Given the description of an element on the screen output the (x, y) to click on. 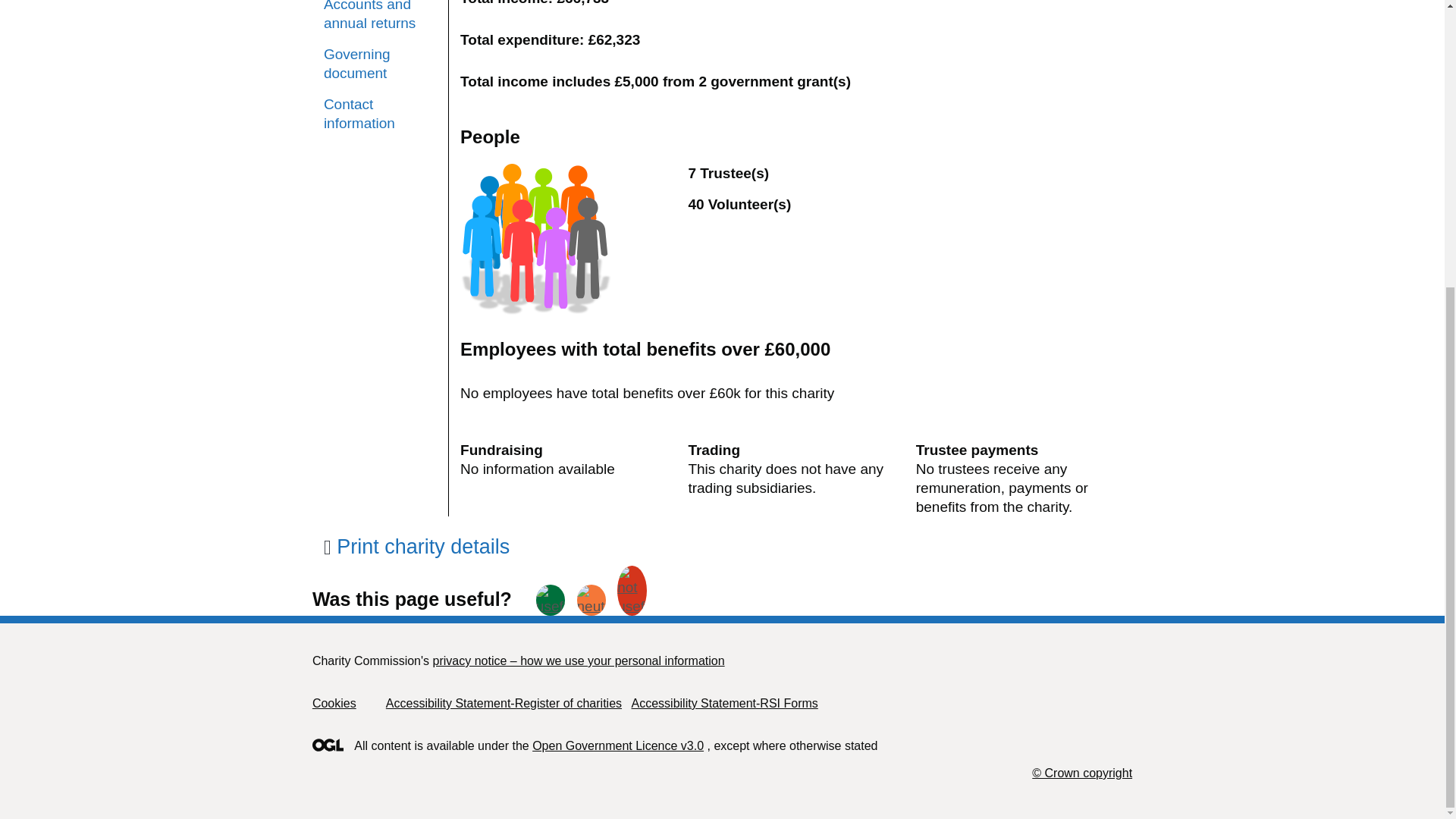
Cookies (334, 703)
Print charity details (416, 546)
Contact information (379, 113)
Accounts and annual returns (379, 16)
Accessibility Statement-Register of charities (503, 703)
Accessibility Statement-RSI Forms (723, 703)
Governing document (379, 63)
Open Government Licence v3.0 (617, 745)
